Given the description of an element on the screen output the (x, y) to click on. 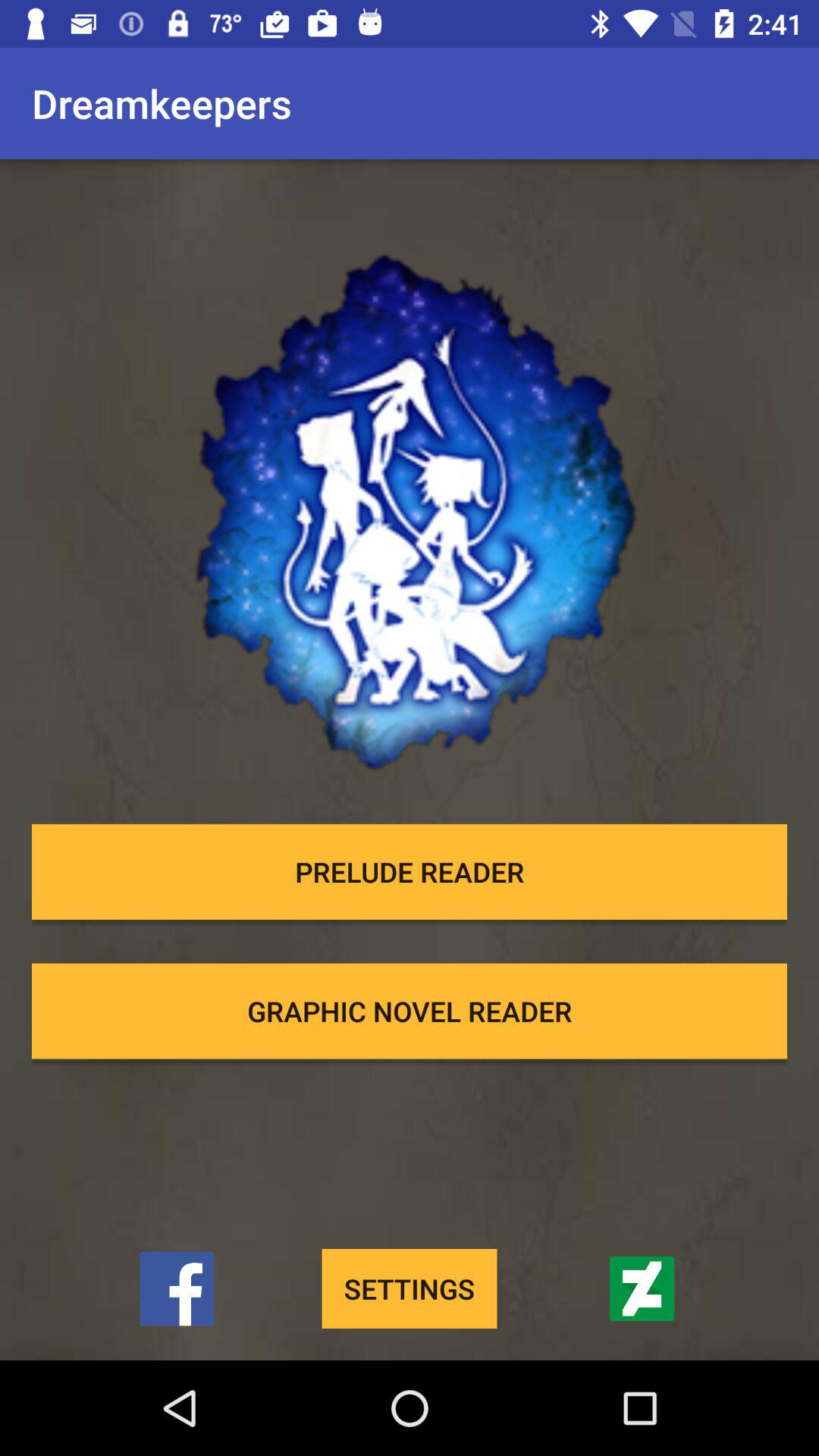
launch item above the prelude reader item (409, 489)
